Given the description of an element on the screen output the (x, y) to click on. 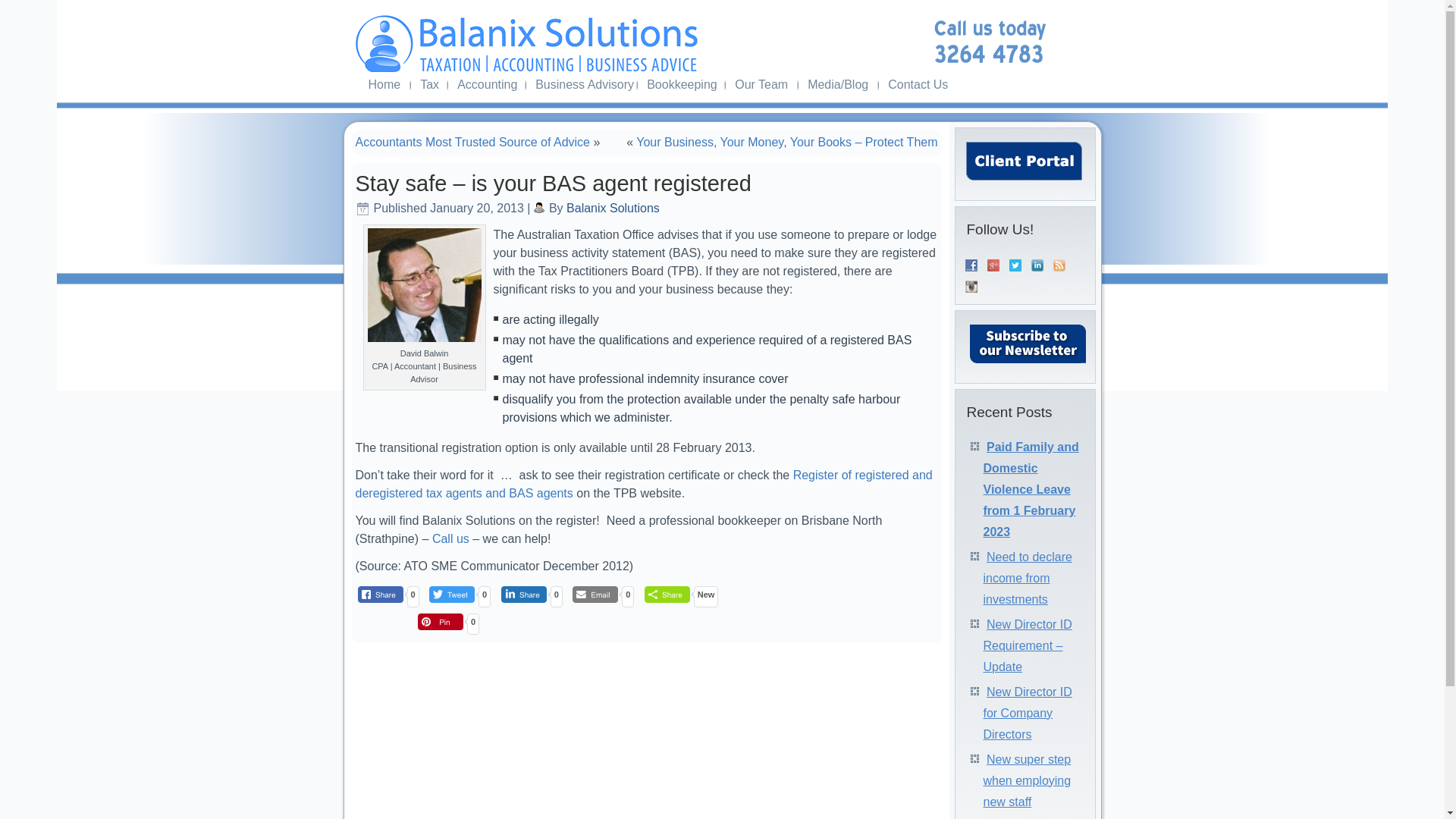
Tax (428, 84)
Contact Us (917, 84)
Business Advisory (580, 84)
Home (384, 84)
Accounting (486, 84)
Our Team (760, 84)
Bookkeeping (680, 84)
Home (384, 84)
Tax (428, 84)
Accountants Most Trusted Source of Advice (472, 141)
Business Advisory (580, 84)
Accounting (486, 84)
